Given the description of an element on the screen output the (x, y) to click on. 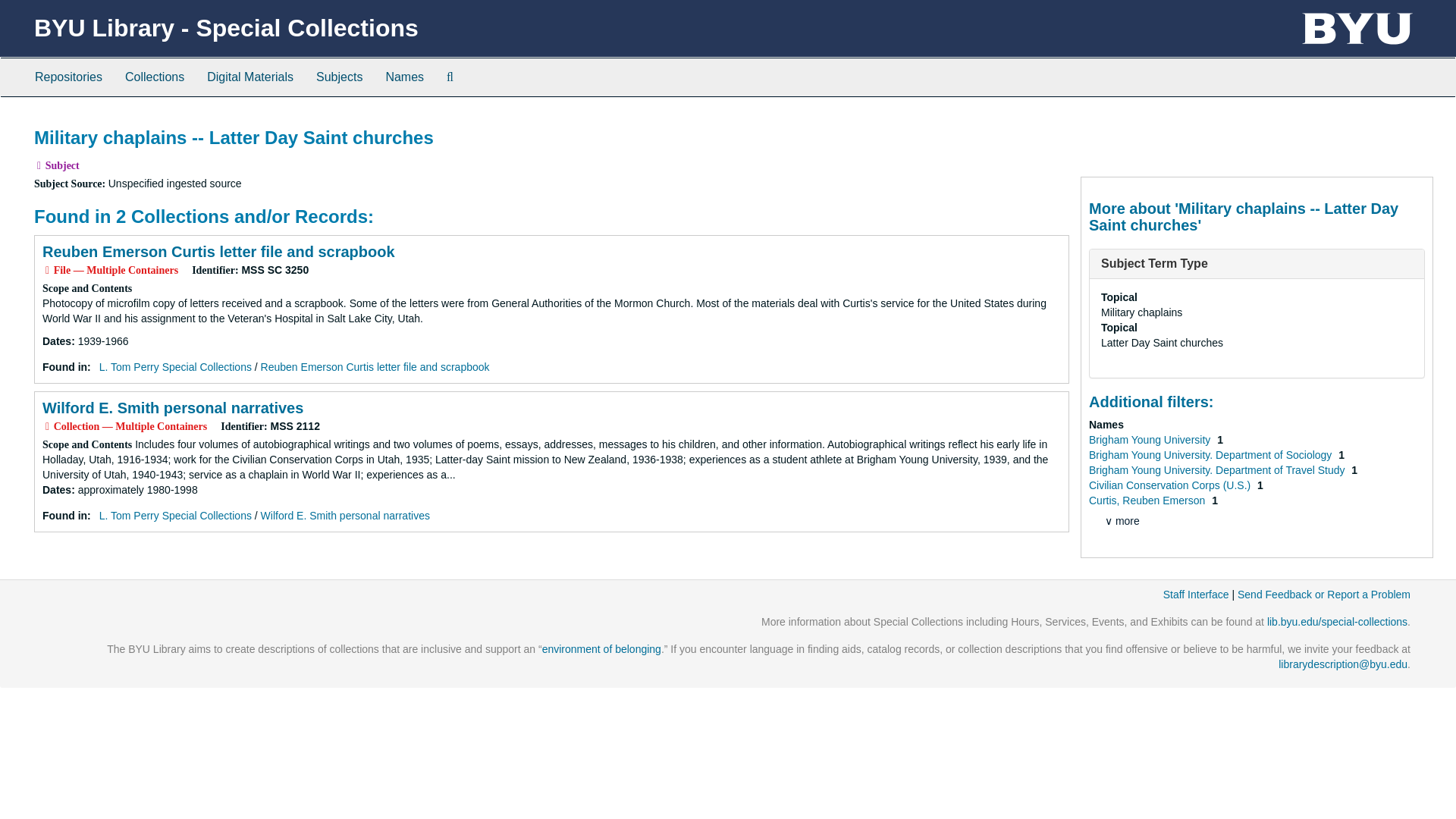
Send Feedback or Report a Problem (1323, 594)
Collections (154, 77)
Wilford E. Smith personal narratives (172, 407)
BYU Library - Special Collections (226, 27)
Names (404, 77)
Filter By 'Curtis, Reuben Emerson' (1148, 500)
L. Tom Perry Special Collections (175, 515)
Subject Term Type (1154, 263)
L. Tom Perry Special Collections (175, 367)
Brigham Young University. Department of Sociology (1212, 454)
Subjects (339, 77)
translation missing: en.dates (56, 490)
Return to the homepage (226, 27)
Wilford E. Smith personal narratives (344, 515)
